Given the description of an element on the screen output the (x, y) to click on. 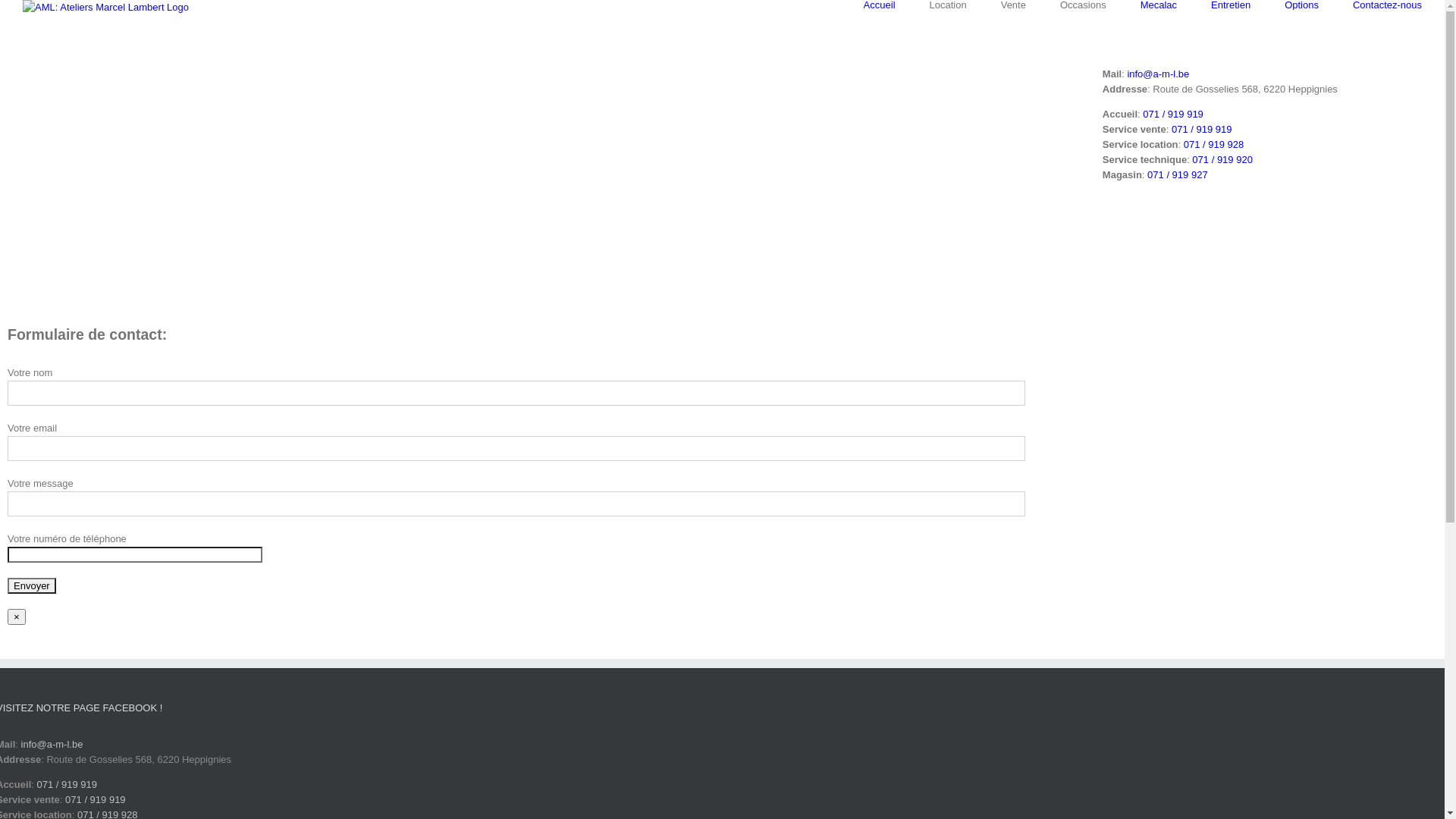
Accueil Element type: text (879, 4)
Mecalac Element type: text (1158, 4)
Location Element type: text (947, 4)
Options Element type: text (1301, 4)
071 / 919 919 Element type: text (66, 784)
071 / 919 928 Element type: text (1213, 144)
071 / 919 919 Element type: text (95, 799)
Entretien Element type: text (1230, 4)
info@a-m-l.be Element type: text (1157, 73)
071 / 919 927 Element type: text (1177, 174)
Contactez-nous Element type: text (1386, 4)
071 / 919 919 Element type: text (1201, 128)
Vente Element type: text (1013, 4)
Envoyer Element type: text (31, 585)
info@a-m-l.be Element type: text (52, 743)
071 / 919 919 Element type: text (1172, 113)
Occasions Element type: text (1083, 4)
071 / 919 920 Element type: text (1222, 159)
